Given the description of an element on the screen output the (x, y) to click on. 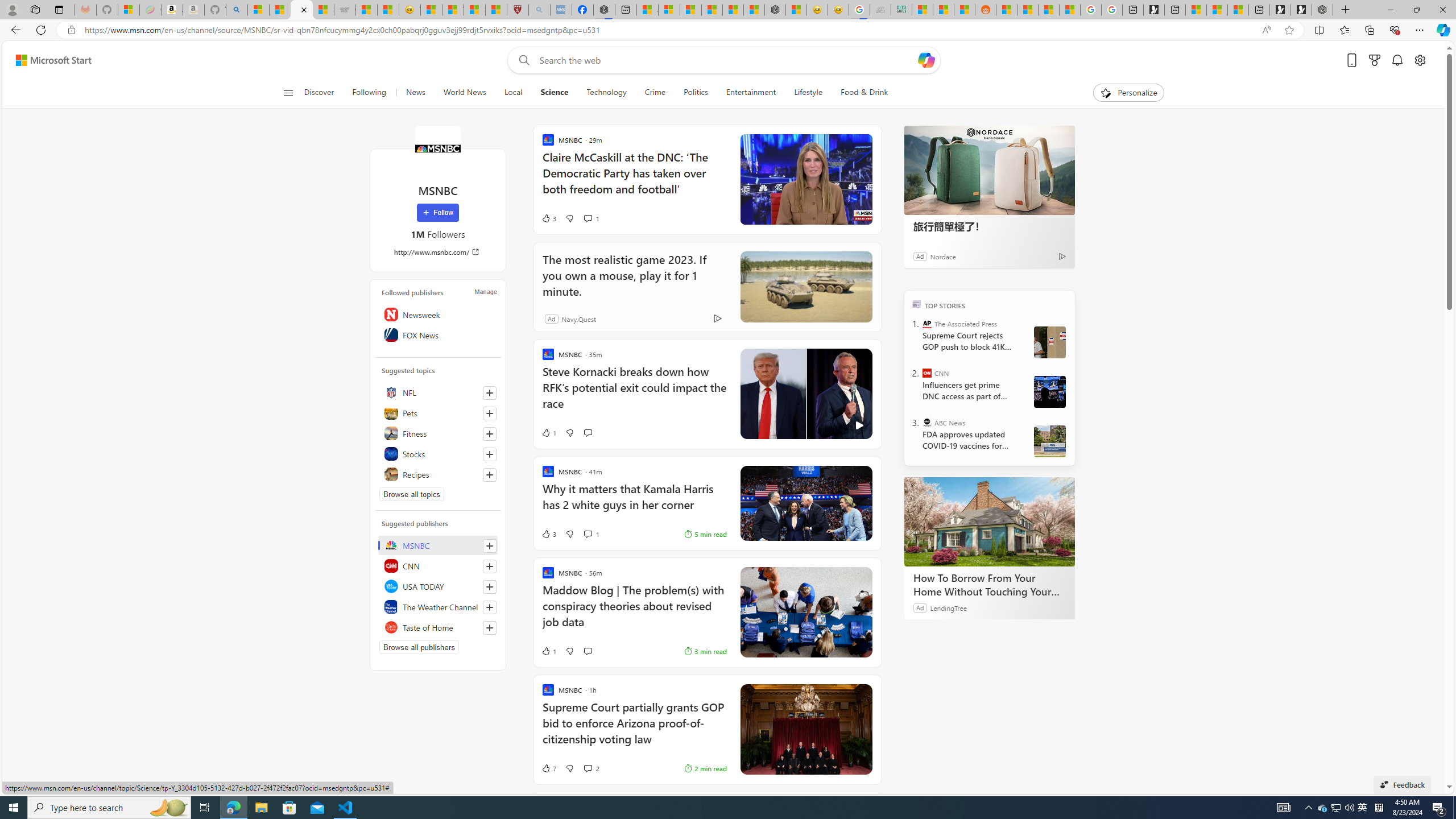
Browse all publishers (419, 647)
Crime (654, 92)
Technology (606, 92)
Follow this topic (489, 474)
R******* | Trusted Community Engagement and Contributions (1006, 9)
Robert H. Shmerling, MD - Harvard Health (517, 9)
Science (554, 92)
Open navigation menu (287, 92)
The Associated Press (927, 323)
Follow this source (489, 627)
